Given the description of an element on the screen output the (x, y) to click on. 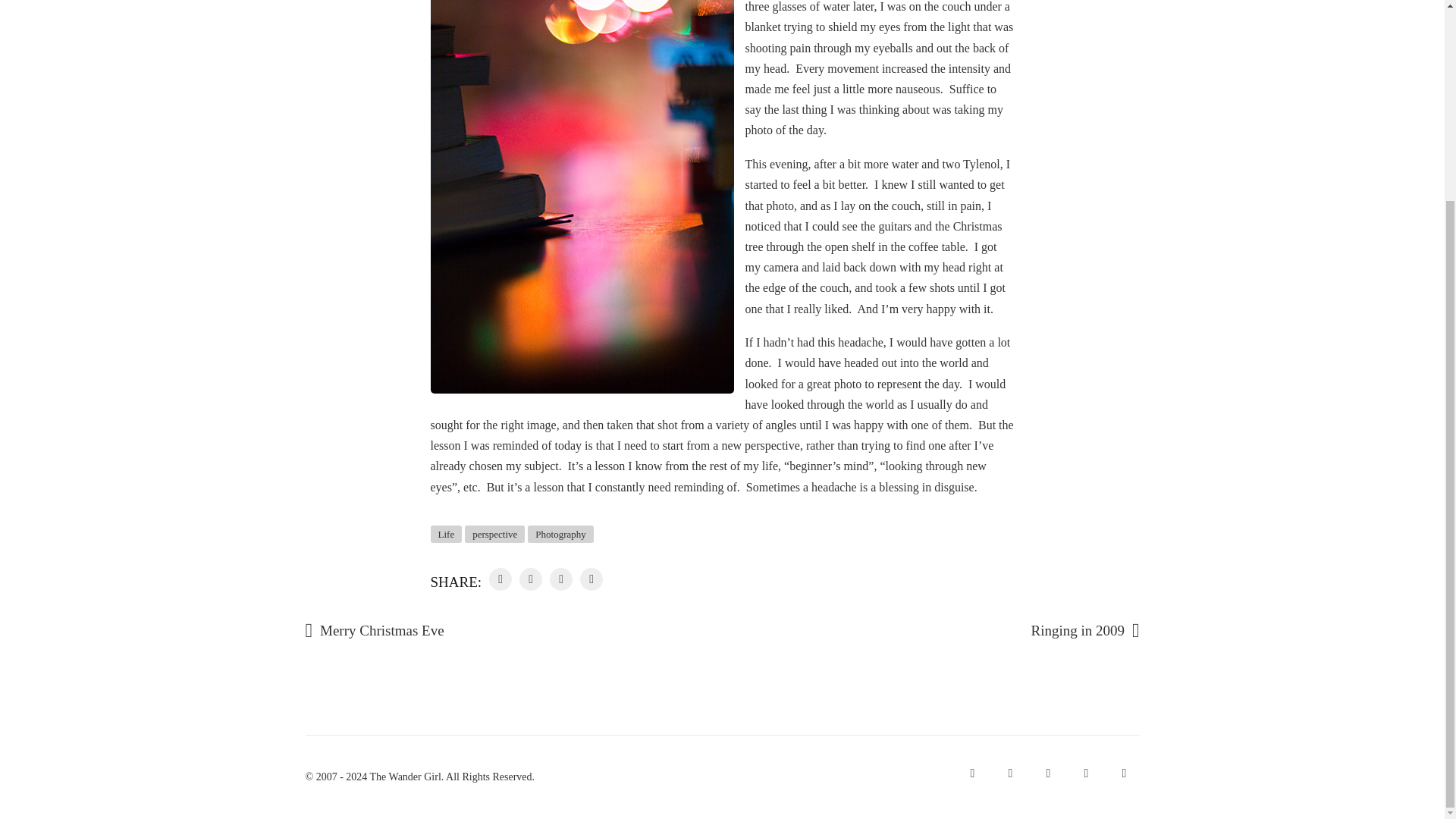
Pinterest (1123, 773)
Mastodon (1009, 773)
Instagram (1047, 773)
Tumblr (1085, 773)
Email (971, 773)
